Given the description of an element on the screen output the (x, y) to click on. 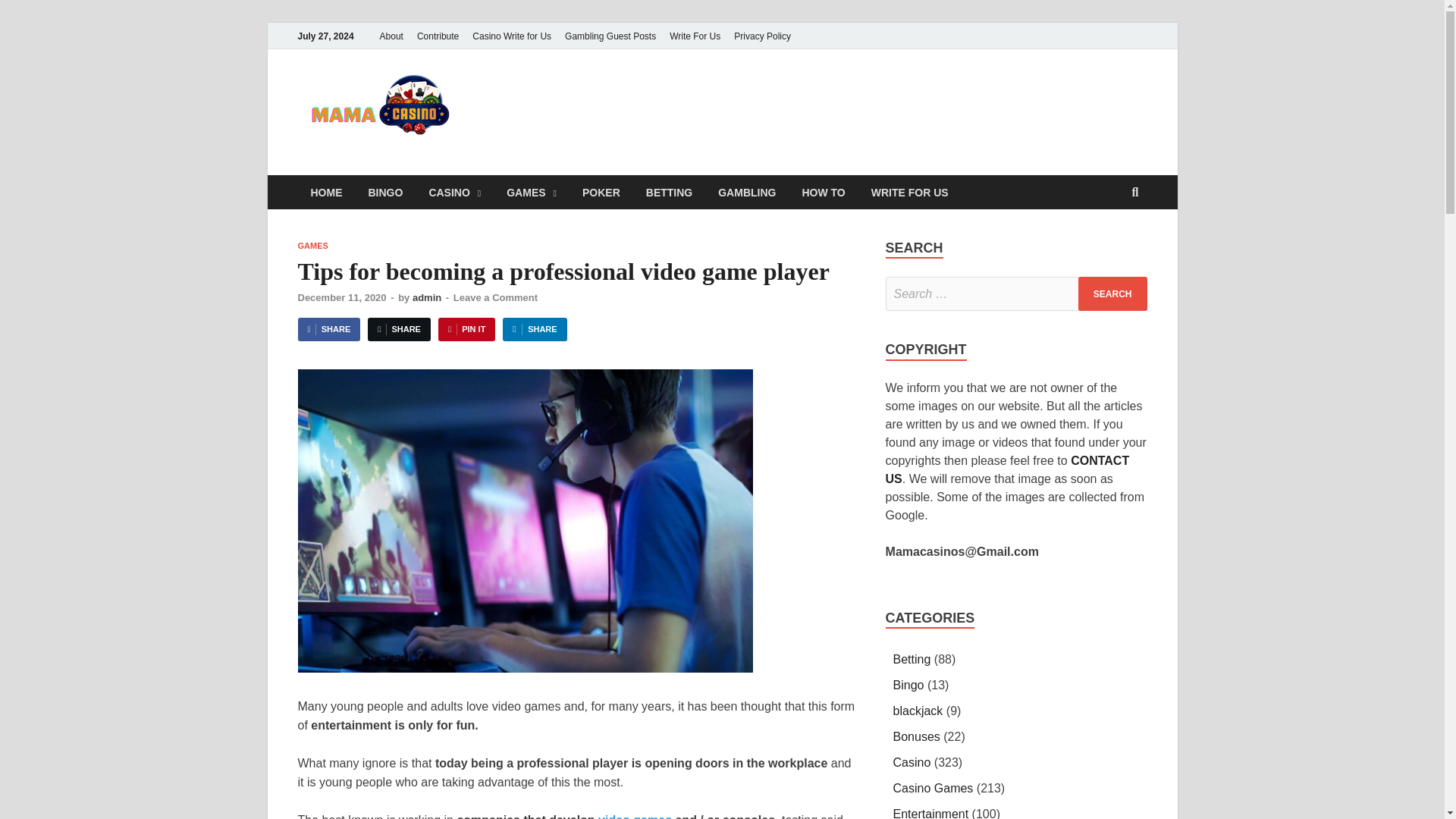
GAMES (531, 192)
GAMES (312, 245)
Mama Casinos: (615, 100)
About (391, 35)
Leave a Comment (494, 297)
Search (1112, 293)
Casino Write for Us (511, 35)
BINGO (384, 192)
Search (1112, 293)
HOW TO (823, 192)
SHARE (534, 329)
GAMBLING (746, 192)
CASINO (453, 192)
BETTING (668, 192)
Privacy Policy (761, 35)
